Given the description of an element on the screen output the (x, y) to click on. 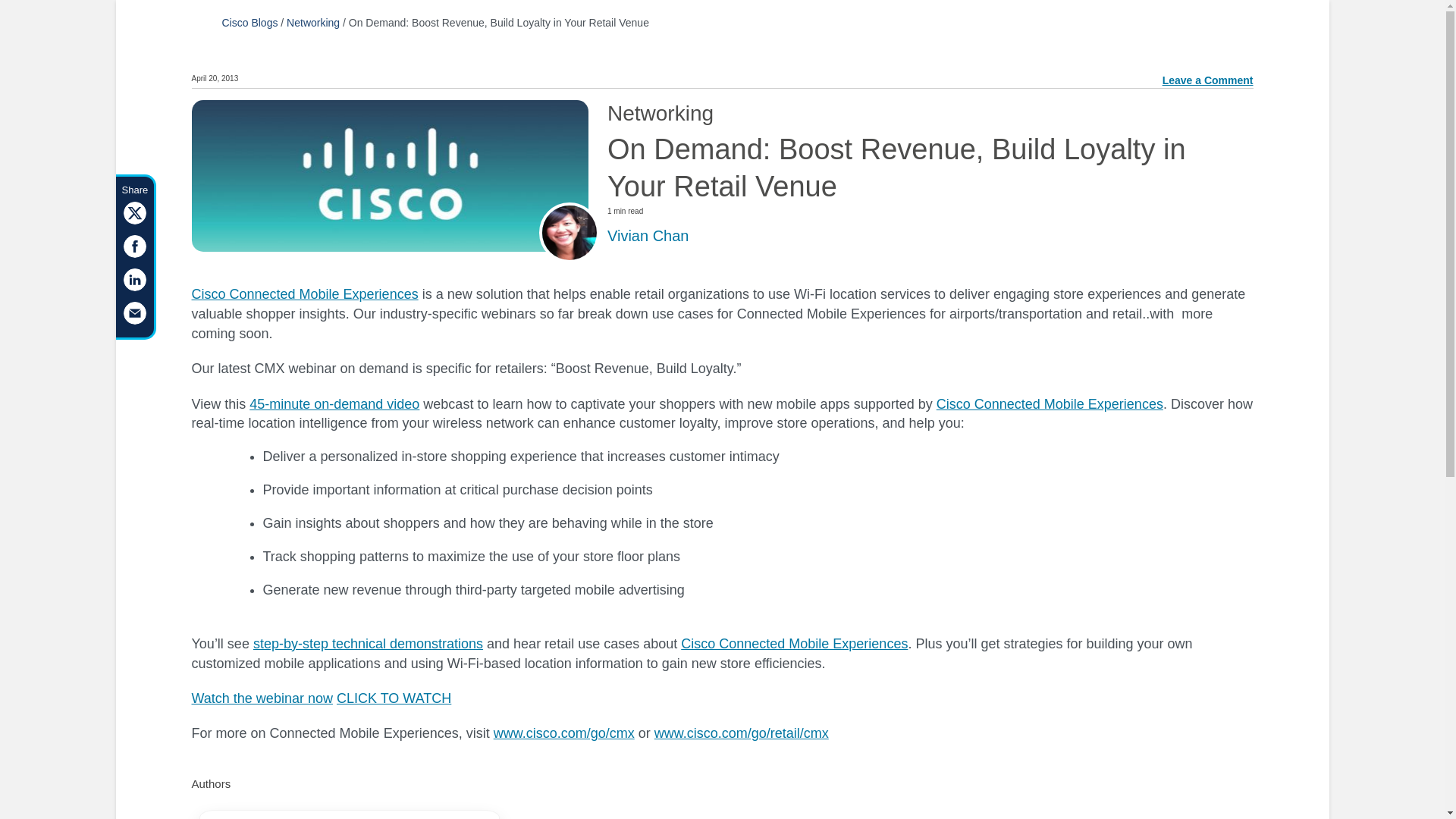
step-by-step technical demonstrations (368, 643)
Cisco Connected Mobile Experiences (1049, 403)
Watch the webinar now (260, 698)
Cisco Connected Mobile Experiences (794, 643)
CLICK TO WATCH (393, 698)
Posts by Vivian Chan (647, 235)
Networking (312, 22)
Vivian Chan (647, 235)
Cisco Blogs (249, 22)
Cisco Connected Mobile Experiences (303, 294)
45-minute on-demand video (333, 403)
